Given the description of an element on the screen output the (x, y) to click on. 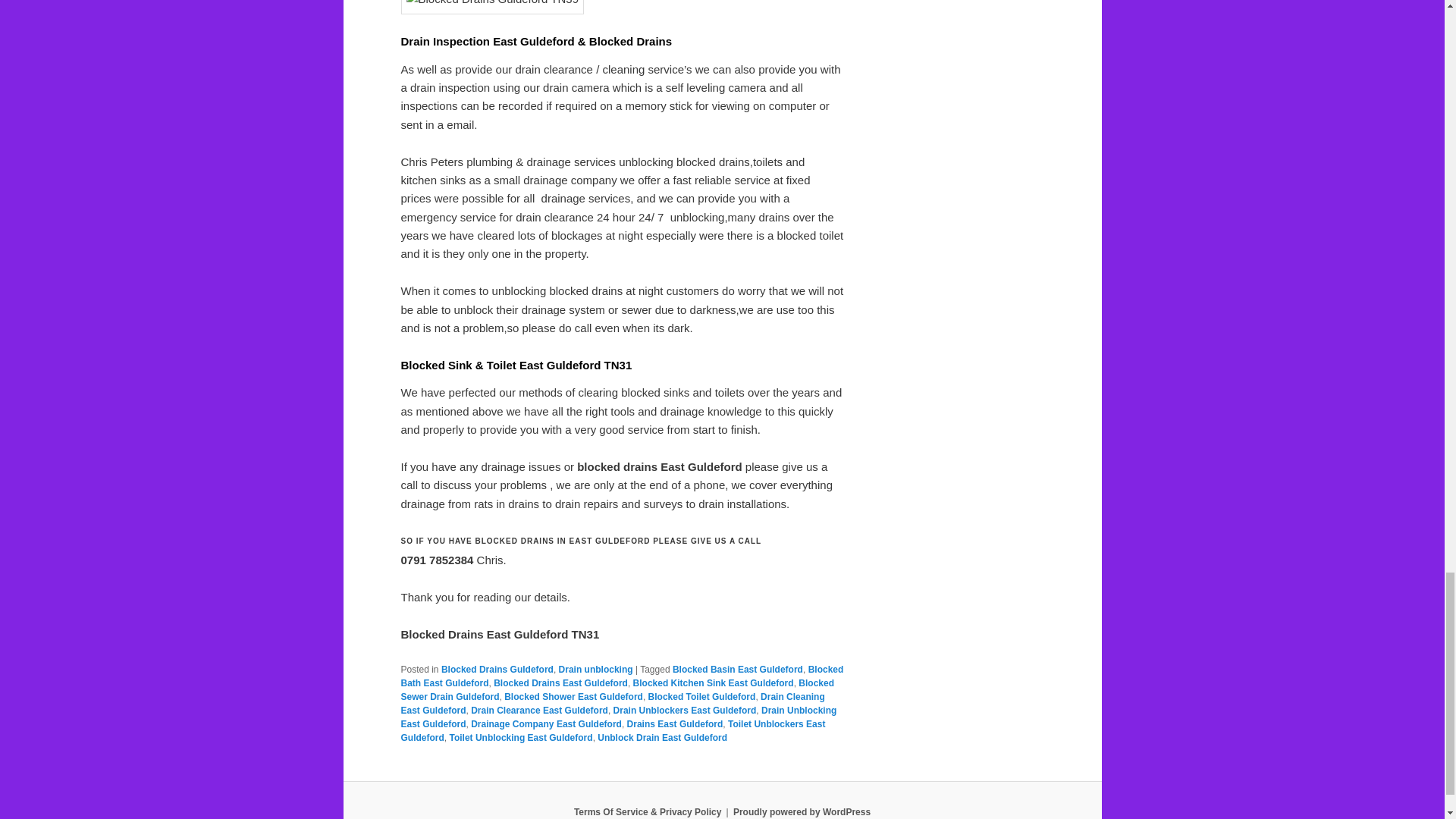
Proudly powered by WordPress (801, 811)
Semantic Personal Publishing Platform (801, 811)
Toilet Unblockers East Guldeford (612, 730)
Drains East Guldeford (675, 724)
Blocked Shower East Guldeford (573, 696)
Blocked Drains Guldeford (497, 669)
Blocked Basin East Guldeford (737, 669)
Drain unblocking (596, 669)
Blocked Drains East Guldeford (560, 683)
Blocked Drains Guldeford TN39 (491, 6)
